Given the description of an element on the screen output the (x, y) to click on. 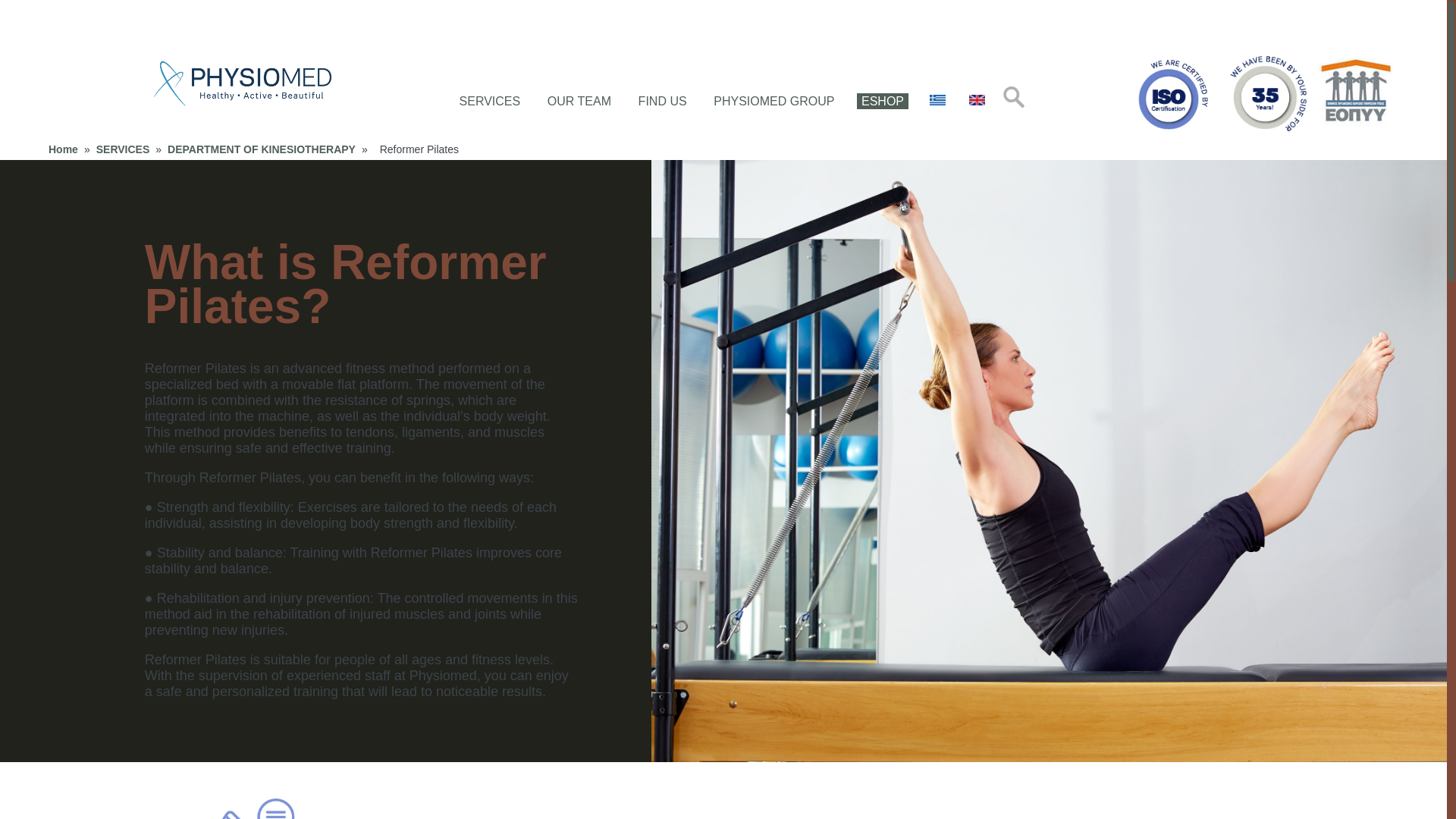
DEPARTMENT OF KINESIOTHERAPY (261, 149)
SERVICES (122, 149)
Search (21, 6)
Home (63, 149)
OUR TEAM (579, 101)
PHYSIOMED GROUP (773, 101)
ESHOP (882, 101)
FIND US (663, 101)
SERVICES (490, 101)
